Given the description of an element on the screen output the (x, y) to click on. 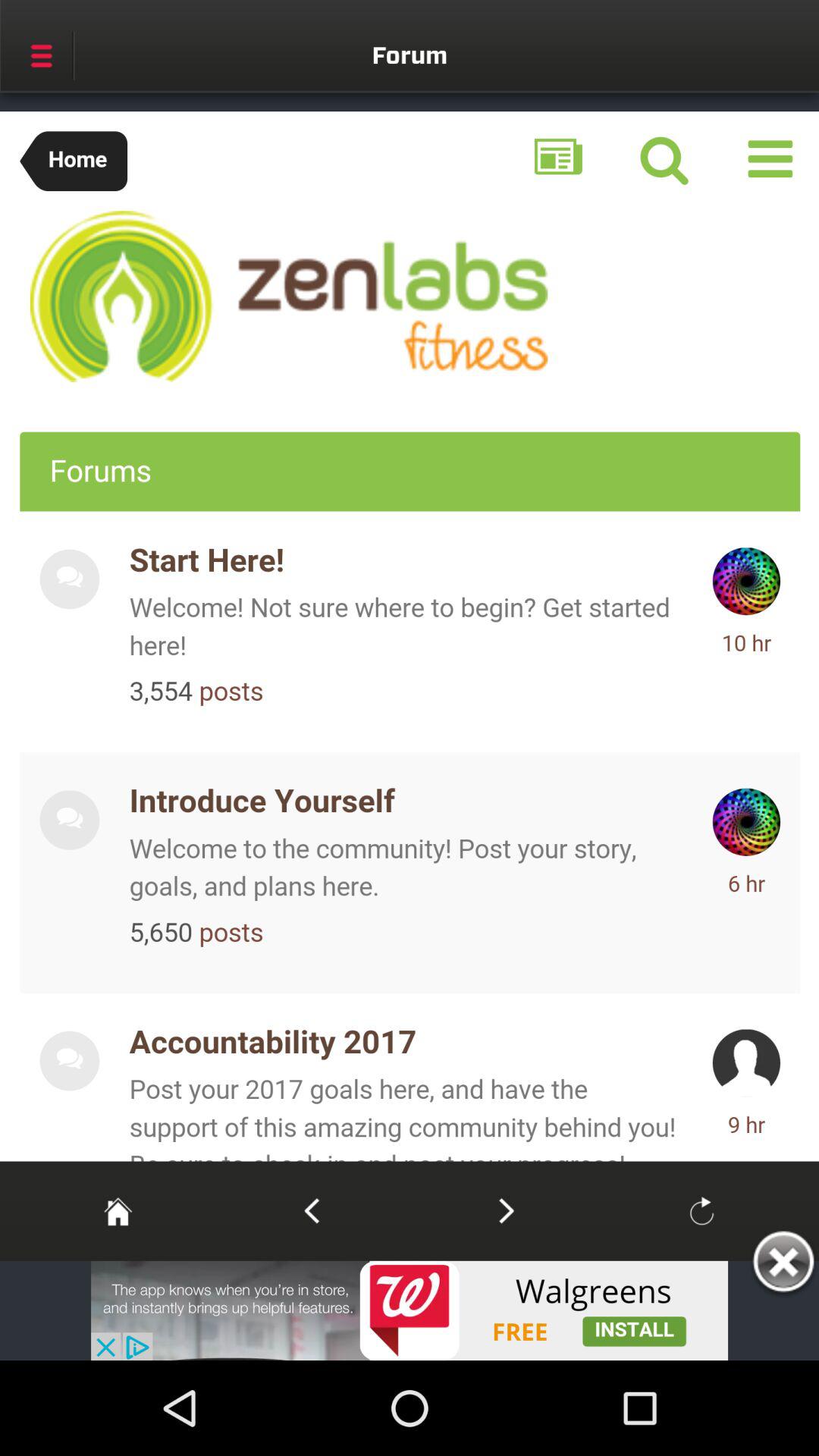
reload (701, 1210)
